Given the description of an element on the screen output the (x, y) to click on. 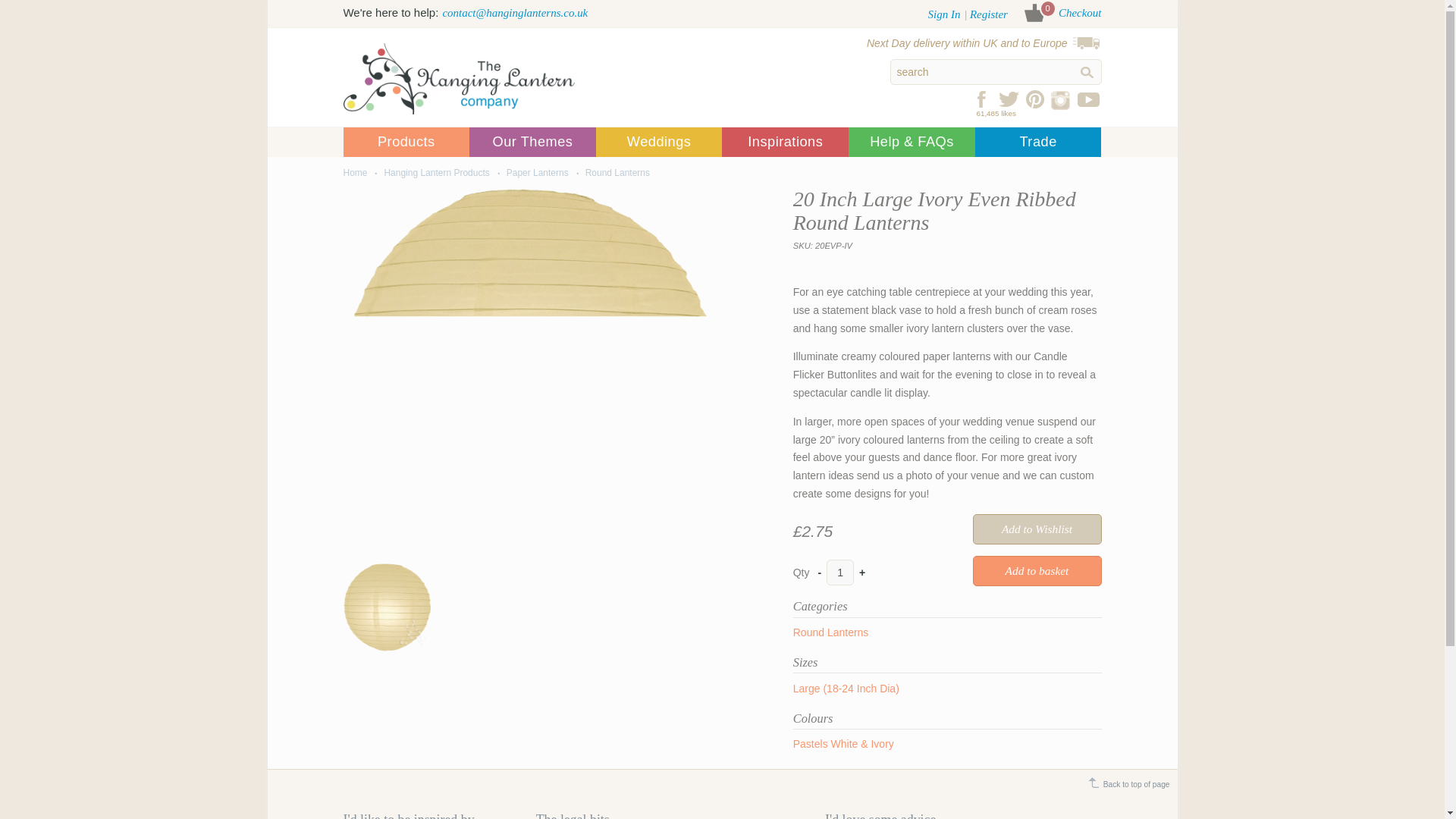
Add to basket (1036, 571)
Add to Wishlist (1036, 529)
Instagram (1061, 99)
Apply (1086, 72)
Hanging Lantern Company Products (405, 141)
Pinterest (1035, 99)
Facebook (982, 99)
Products (405, 141)
1 (840, 572)
Inspirations (785, 141)
